Given the description of an element on the screen output the (x, y) to click on. 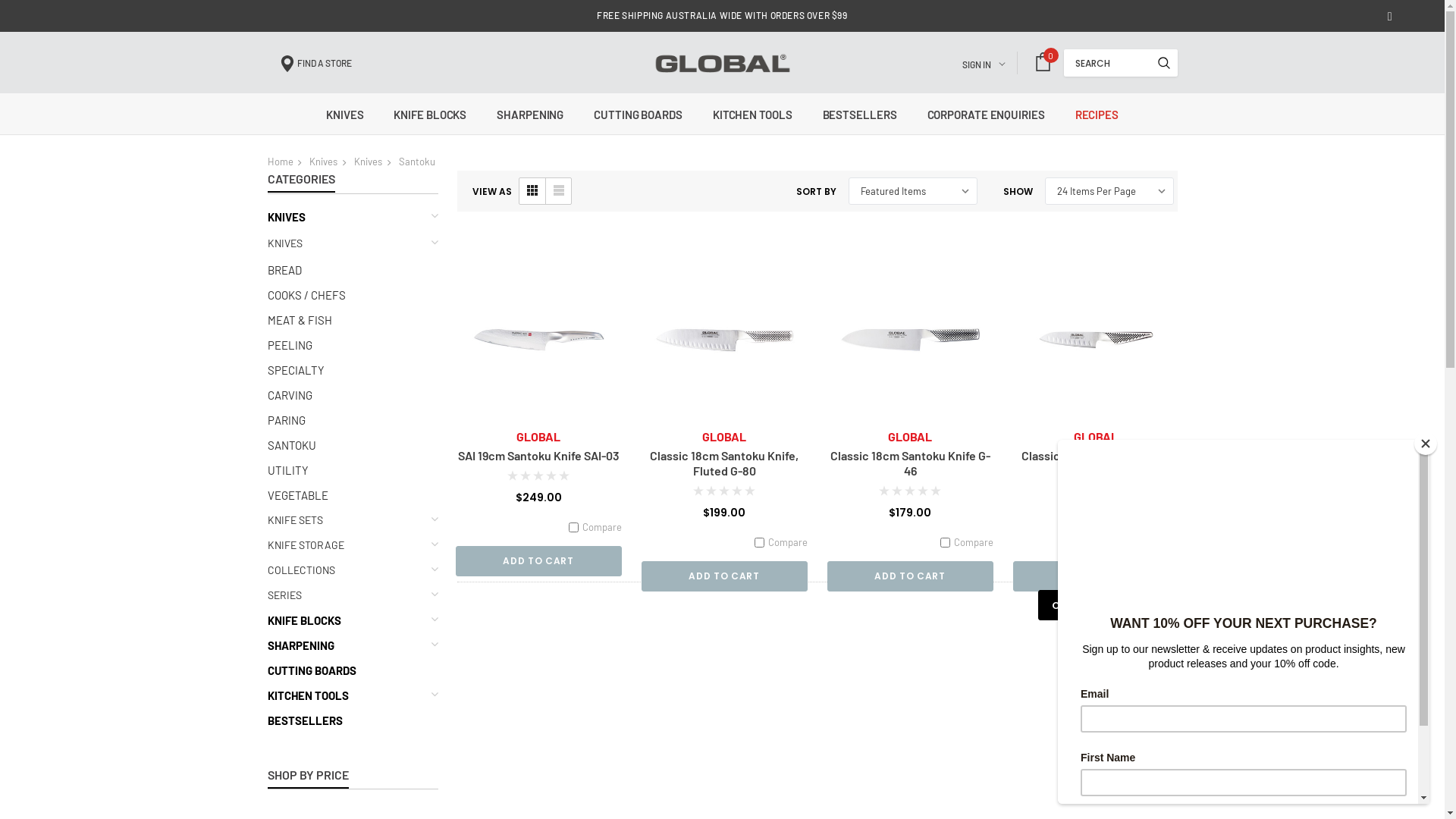
CARVING Element type: text (288, 394)
BREAD Element type: text (283, 269)
SAI 19cm Santoku Knife SAI-03 Element type: text (538, 455)
SIGN IN Element type: text (982, 62)
Grid View Element type: hover (531, 190)
CUTTING BOARDS Element type: text (637, 115)
KNIFE BLOCKS Element type: text (303, 619)
Classic 18cm Santoku Knife G-46 Element type: text (909, 462)
ADD TO CART Element type: text (909, 576)
KNIVES Element type: text (283, 243)
Home Element type: text (279, 161)
PEELING Element type: text (288, 344)
Global Knives Australia Element type: hover (721, 62)
CUTTING BOARDS Element type: text (310, 669)
Knives Element type: text (368, 161)
KNIFE STORAGE Element type: text (304, 544)
COMPARE SELECTED Element type: text (1106, 604)
Classic 13cm Santoku Knife, Fluted GS-90 Element type: hover (1096, 340)
PARING Element type: text (285, 419)
UTILITY Element type: text (286, 469)
CORPORATE ENQUIRIES Element type: text (985, 115)
KNIVES Element type: text (344, 115)
SPECIALTY Element type: text (294, 369)
Classic 13cm Santoku Knife, Fluted GS-90 Element type: text (1095, 462)
Santoku Element type: text (416, 161)
RECIPES Element type: text (1096, 115)
KNIVES Element type: text (285, 216)
0 Element type: text (1041, 62)
Classic 18cm Santoku Knife, Fluted G-80 Element type: text (723, 462)
VEGETABLE Element type: text (296, 494)
ADD TO CART Element type: text (724, 576)
Knives Element type: text (323, 161)
Classic 18cm Santoku Knife G-46 Element type: hover (909, 340)
KNIFE SETS Element type: text (294, 519)
FIND A STORE Element type: text (315, 62)
MEAT & FISH Element type: text (298, 319)
Classic 18cm Santoku Knife, Fluted G-80 Element type: hover (724, 340)
SHARPENING Element type: text (299, 644)
KITCHEN TOOLS Element type: text (752, 115)
BESTSELLERS Element type: text (304, 720)
KNIFE BLOCKS Element type: text (429, 115)
ADD TO CART Element type: text (1096, 576)
BESTSELLERS Element type: text (859, 115)
SERIES Element type: text (283, 594)
Login Element type: text (1039, 238)
COLLECTIONS Element type: text (300, 569)
SANTOKU Element type: text (290, 444)
KITCHEN TOOLS Element type: text (307, 695)
SHARPENING Element type: text (529, 115)
List View Element type: hover (557, 190)
SAI 19cm Santoku Knife SAI-03 Element type: hover (538, 340)
COOKS / CHEFS Element type: text (305, 294)
ADD TO CART Element type: text (538, 561)
